Given the description of an element on the screen output the (x, y) to click on. 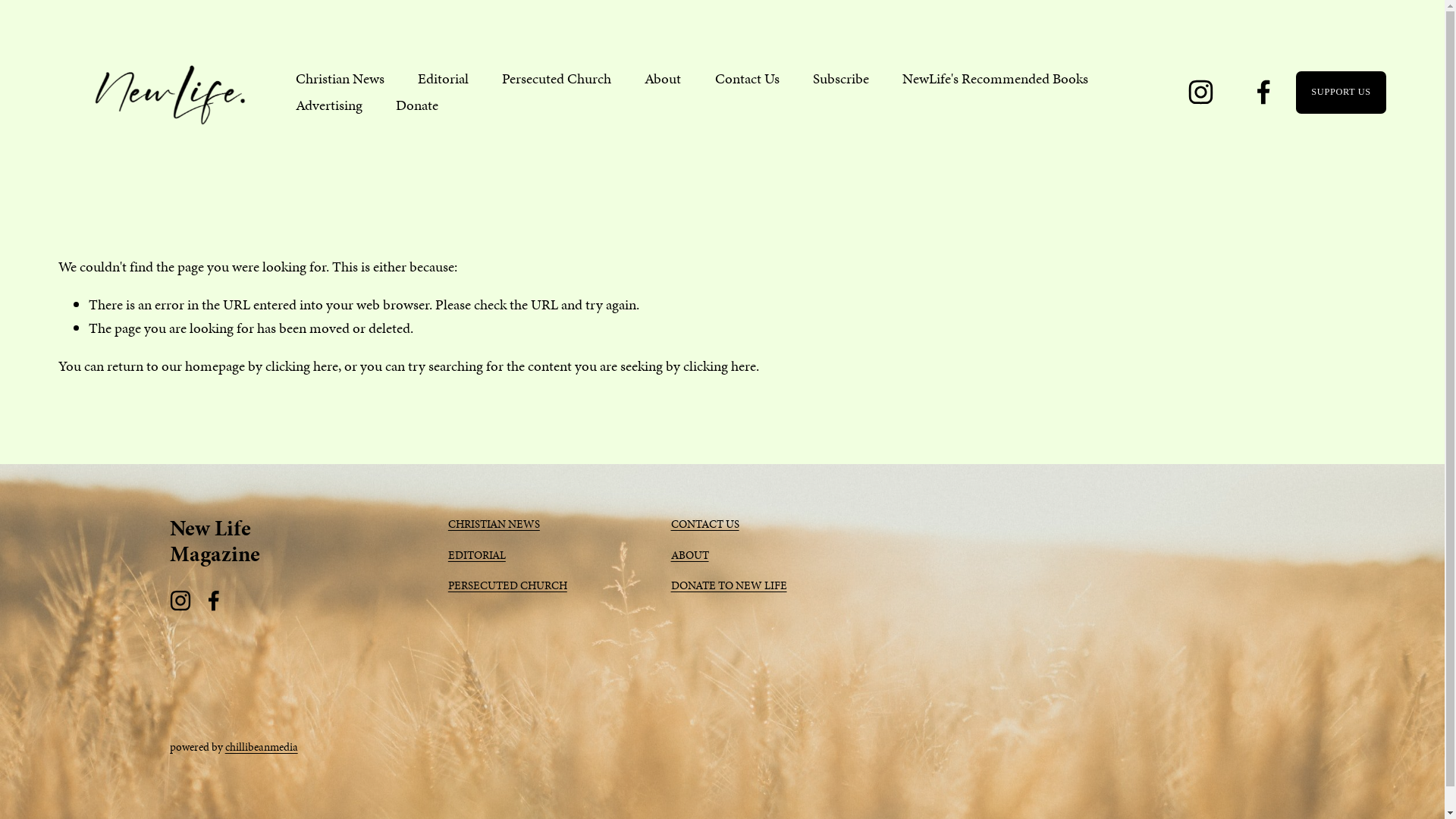
Advertising Element type: text (328, 105)
Donate Element type: text (416, 105)
About Element type: text (662, 78)
DONATE TO NEW LIFE Element type: text (729, 586)
clicking here Element type: text (719, 365)
ABOUT Element type: text (690, 555)
PERSECUTED CHURCH Element type: text (507, 586)
chillibeanmedia Element type: text (261, 747)
Persecuted Church Element type: text (556, 78)
Editorial Element type: text (442, 78)
Subscribe Element type: text (840, 78)
Christian News Element type: text (339, 78)
CHRISTIAN NEWS Element type: text (493, 524)
SUPPORT US Element type: text (1340, 92)
clicking here Element type: text (301, 365)
CONTACT US Element type: text (705, 524)
NewLife's Recommended Books Element type: text (995, 78)
Contact Us Element type: text (747, 78)
EDITORIAL Element type: text (476, 555)
Subscribe! Element type: text (963, 704)
